Given the description of an element on the screen output the (x, y) to click on. 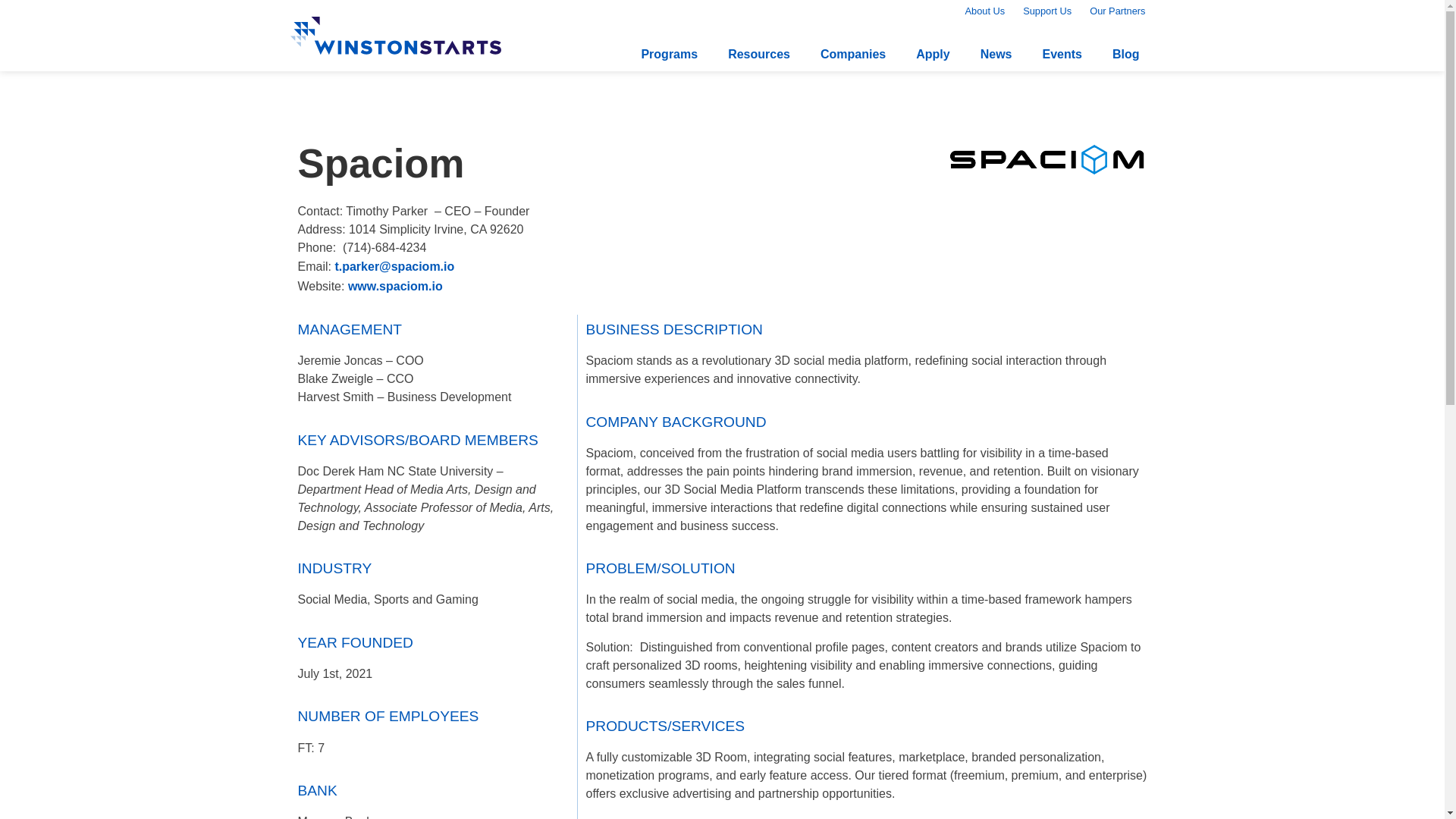
News (996, 54)
Programs (669, 54)
Events (1061, 54)
Apply (932, 54)
Blog (1125, 54)
About Us (985, 11)
Resources (759, 54)
Support Us (1046, 11)
Our Partners (1117, 11)
Companies (853, 54)
